Given the description of an element on the screen output the (x, y) to click on. 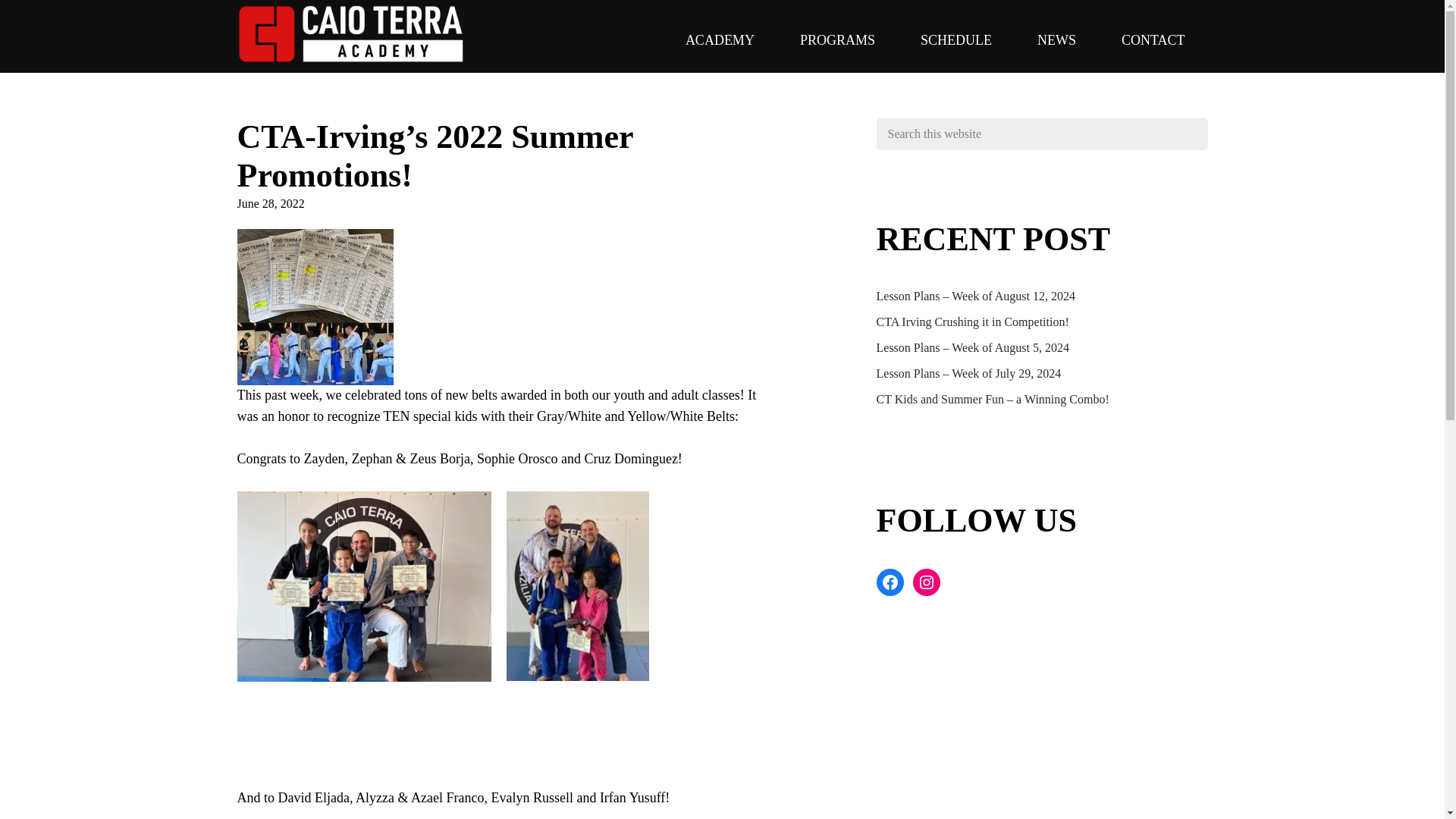
Facebook (890, 582)
Instagram (926, 582)
Caio Terra Academy Irving (266, 94)
NEWS (1055, 39)
PROGRAMS (837, 39)
SCHEDULE (955, 39)
CONTACT (1153, 39)
ACADEMY (719, 39)
